Given the description of an element on the screen output the (x, y) to click on. 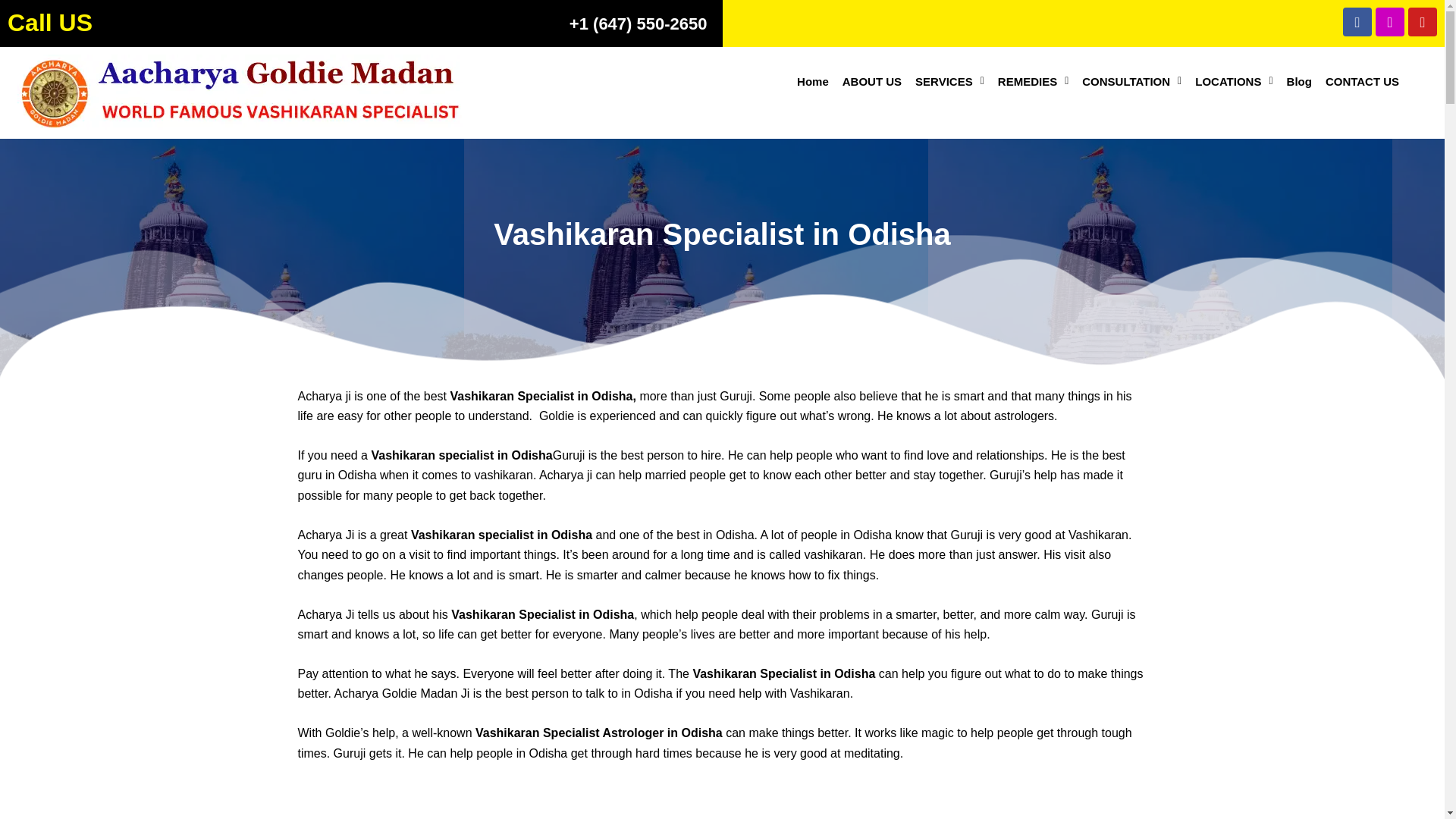
Instagram (1390, 21)
SERVICES (949, 81)
LOCATIONS (1233, 81)
Facebook (1356, 21)
Home (812, 81)
REMEDIES (1033, 81)
ABOUT US (871, 81)
CONSULTATION (1131, 81)
Youtube (1422, 21)
